Given the description of an element on the screen output the (x, y) to click on. 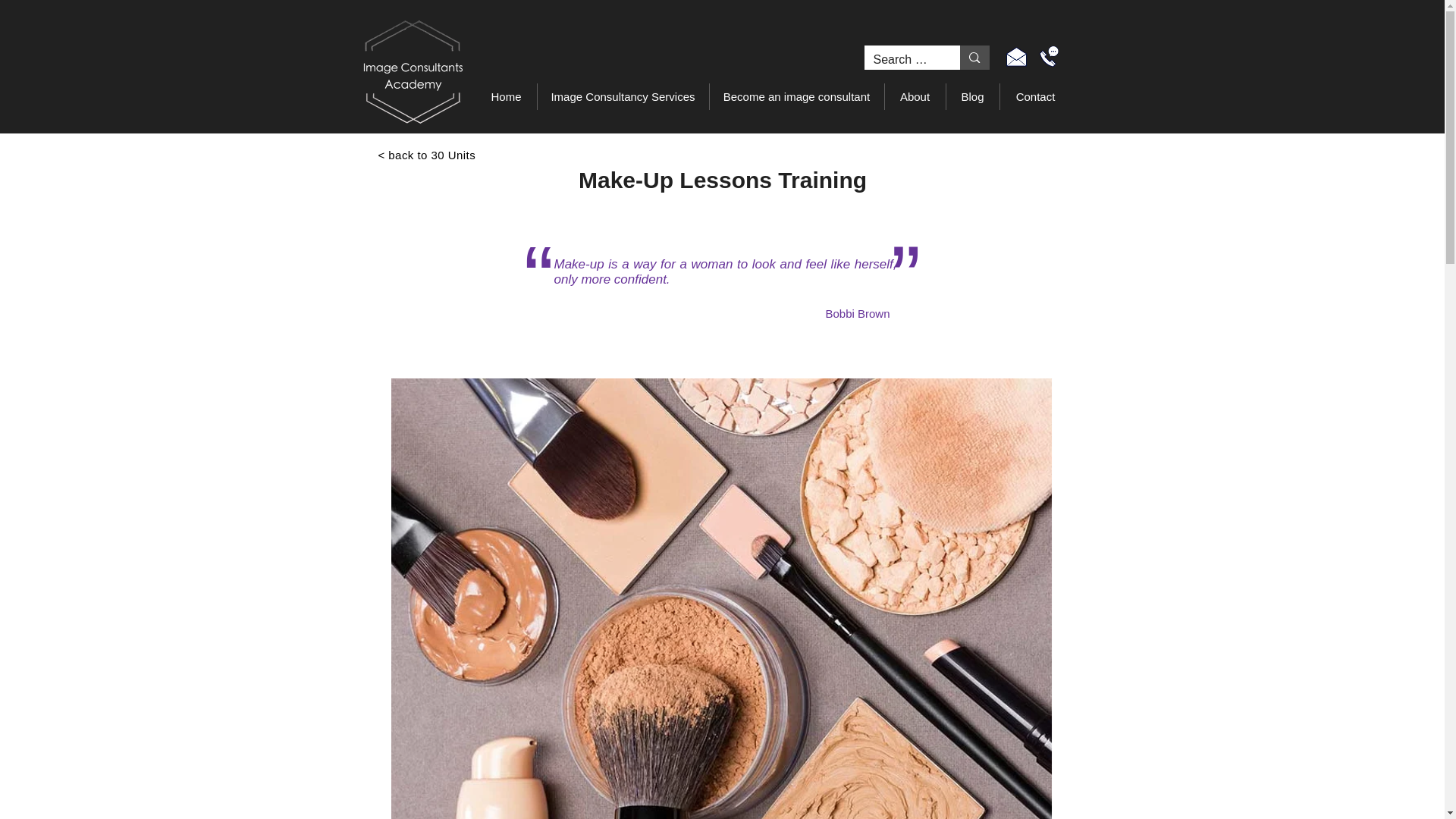
Contact (1034, 96)
Become an image consultant (795, 96)
LogoICA White.png (412, 71)
Image Consultancy Services (623, 96)
Blog (971, 96)
About (913, 96)
Home (506, 96)
